Given the description of an element on the screen output the (x, y) to click on. 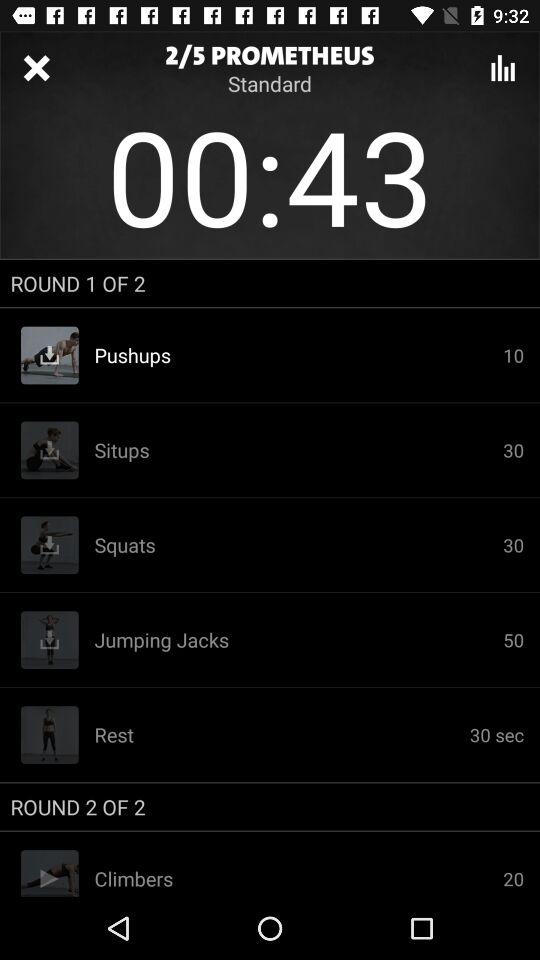
close this screen (36, 68)
